Given the description of an element on the screen output the (x, y) to click on. 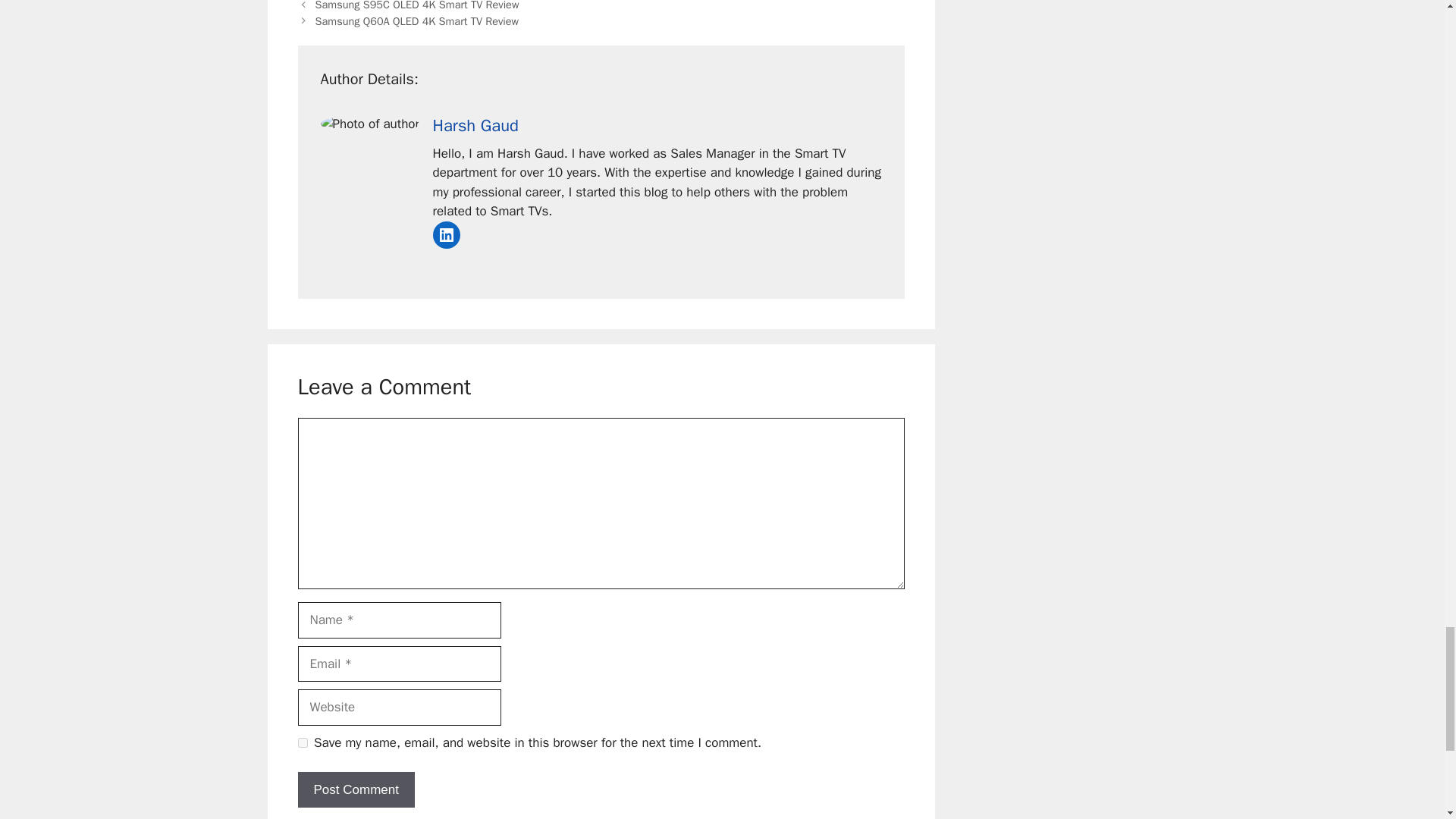
yes (302, 742)
Samsung S95C OLED 4K Smart TV Review (417, 5)
LinkedIn (446, 234)
Post Comment (355, 790)
Harsh Gaud (475, 125)
Post Comment (355, 790)
Samsung Q60A QLED 4K Smart TV Review (417, 20)
